Given the description of an element on the screen output the (x, y) to click on. 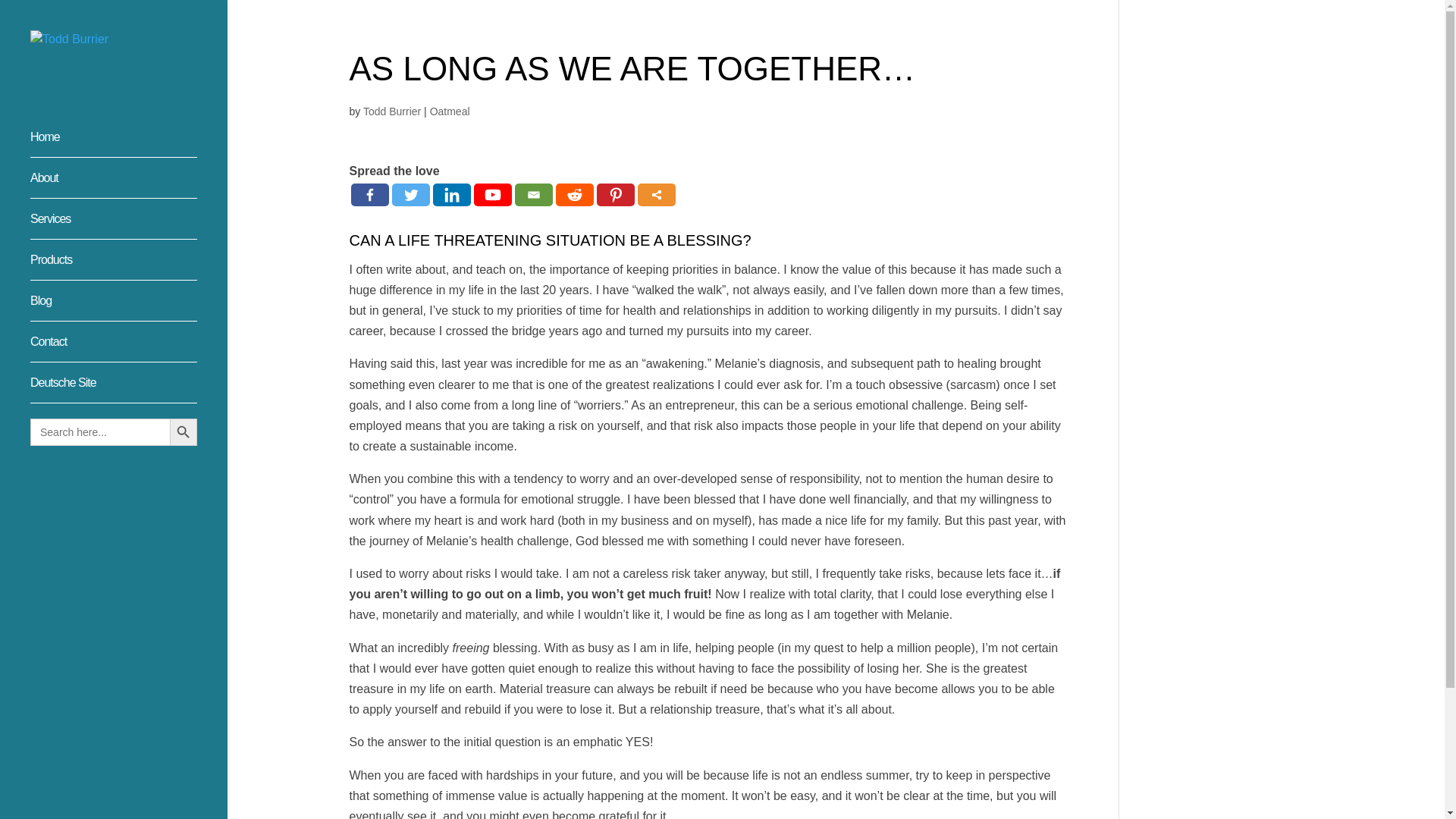
Email (532, 194)
Posts by Todd Burrier (391, 111)
Search Button (183, 431)
Linkedin (451, 194)
Reddit (573, 194)
Services (128, 226)
Youtube (492, 194)
More (656, 194)
Products (128, 267)
Oatmeal (449, 111)
